Given the description of an element on the screen output the (x, y) to click on. 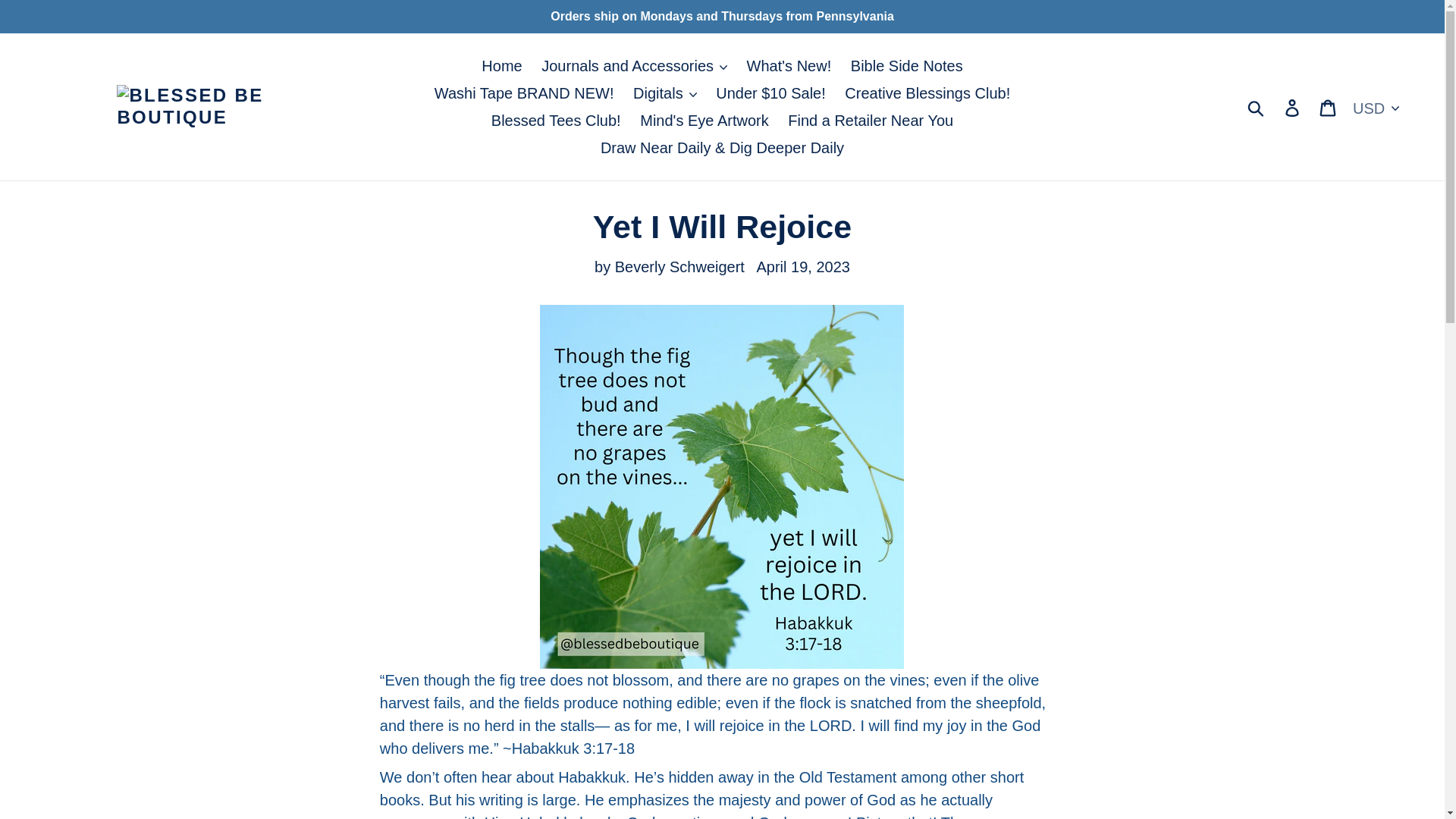
Find a Retailer Near You (870, 120)
Cart (1328, 106)
Creative Blessings Club! (927, 93)
Blessed Tees Club! (555, 120)
Bible Side Notes (907, 65)
Mind's Eye Artwork (703, 120)
Submit (1257, 106)
What's New! (789, 65)
Home (501, 65)
Washi Tape BRAND NEW! (523, 93)
